Given the description of an element on the screen output the (x, y) to click on. 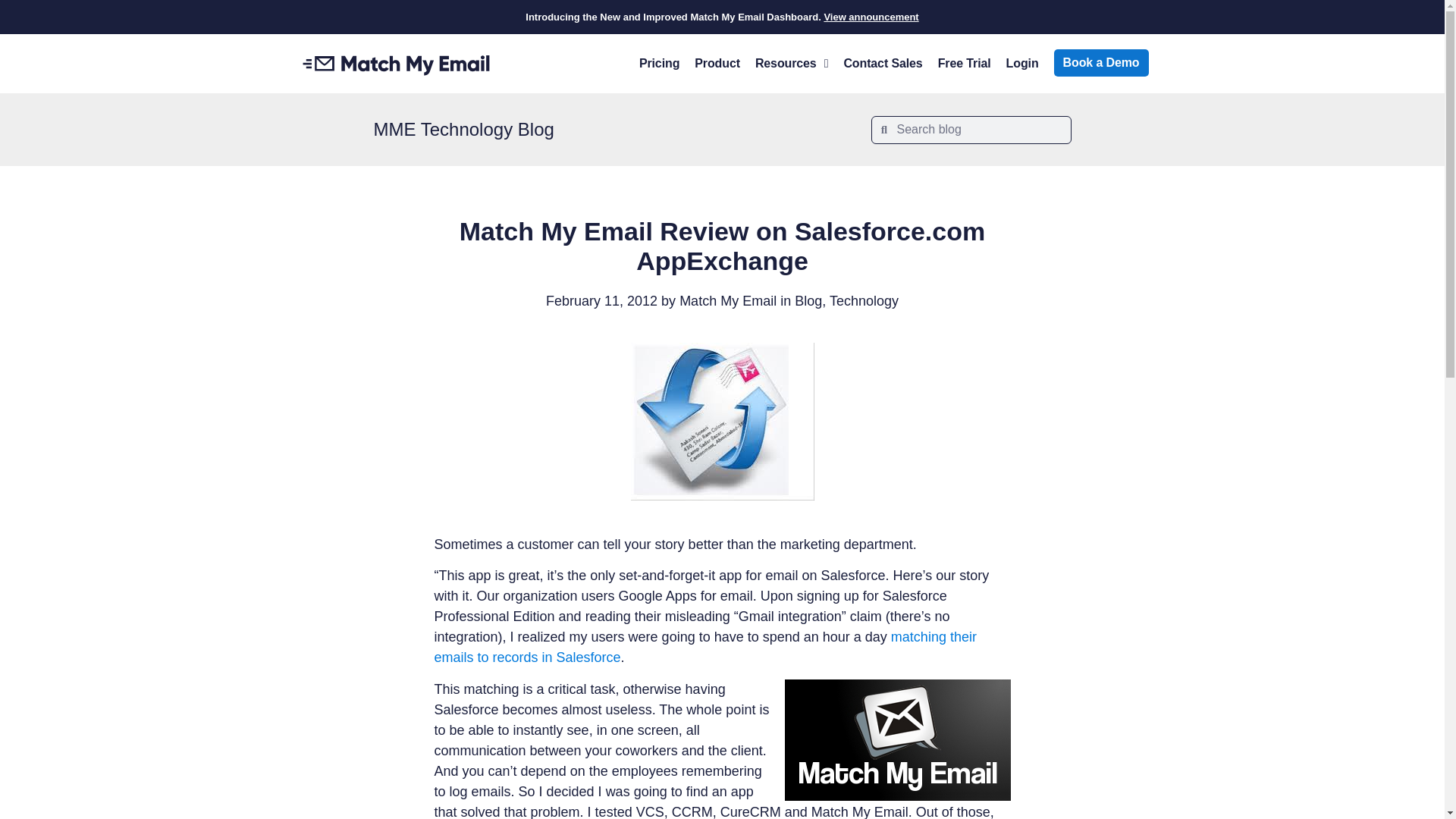
Blog (808, 300)
View announcement (871, 16)
Contact Sales (882, 63)
Product (717, 63)
Free Trial (964, 63)
Technology (863, 300)
Book a Demo (1101, 62)
Login (1022, 63)
Resources (791, 63)
Pricing (659, 63)
matching their emails to records in Salesforce (704, 647)
